Given the description of an element on the screen output the (x, y) to click on. 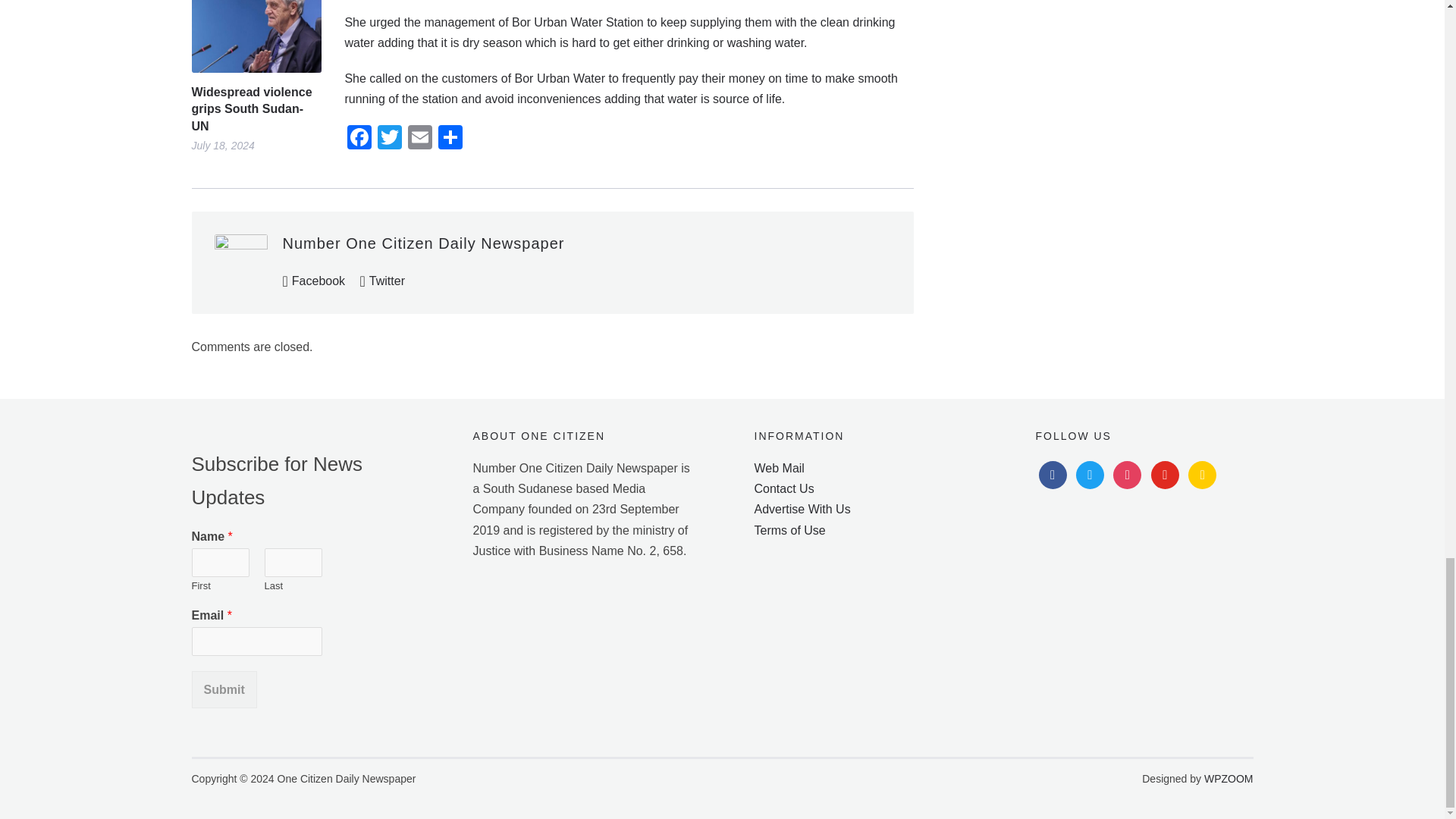
Permalink to Widespread violence grips South Sudan- UN (255, 36)
